Given the description of an element on the screen output the (x, y) to click on. 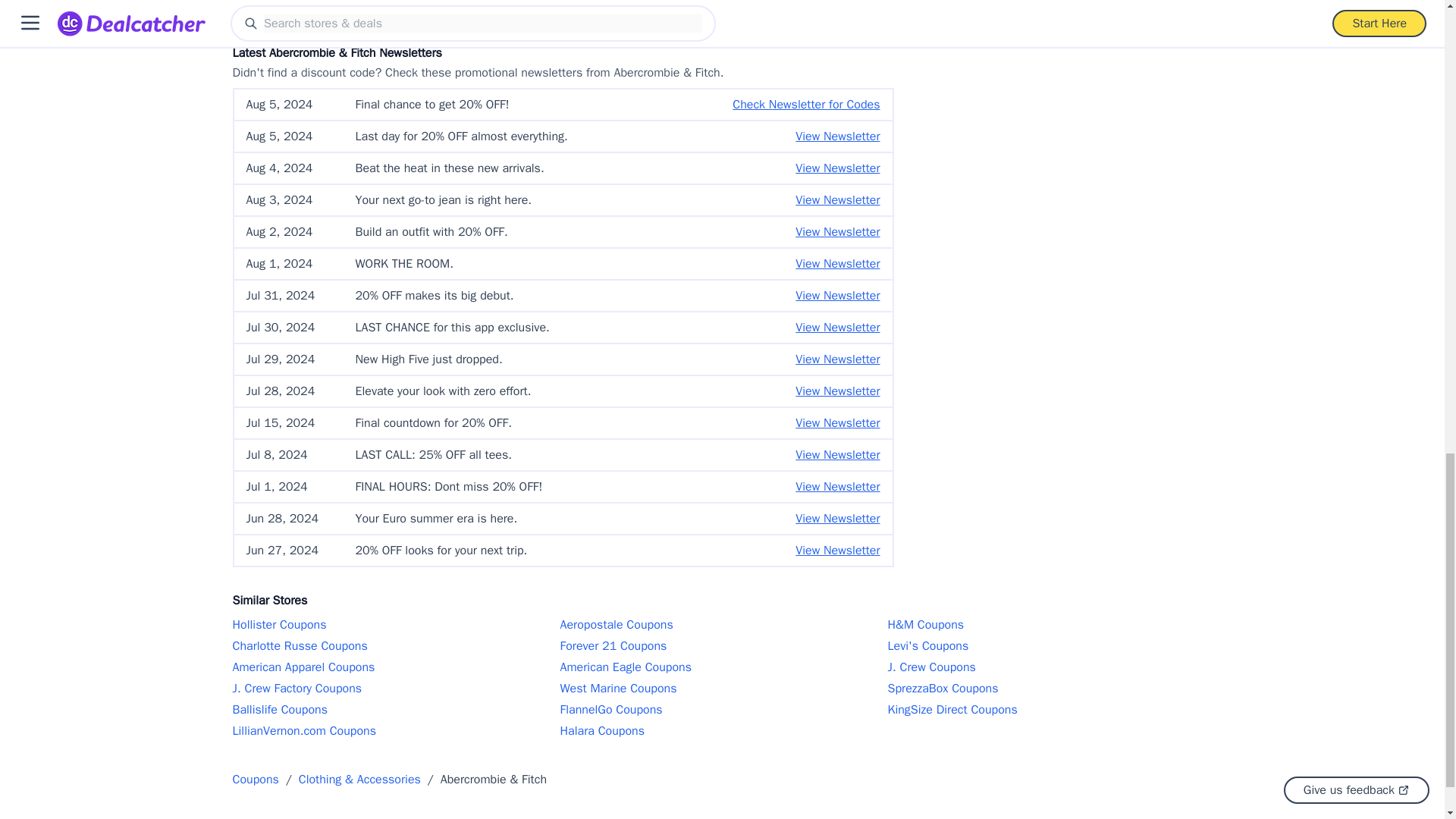
View Newsletter (836, 199)
See More Codes (562, 9)
Check Newsletter for Codes (805, 104)
View Newsletter (836, 136)
View Newsletter (836, 167)
View Newsletter (836, 231)
